Given the description of an element on the screen output the (x, y) to click on. 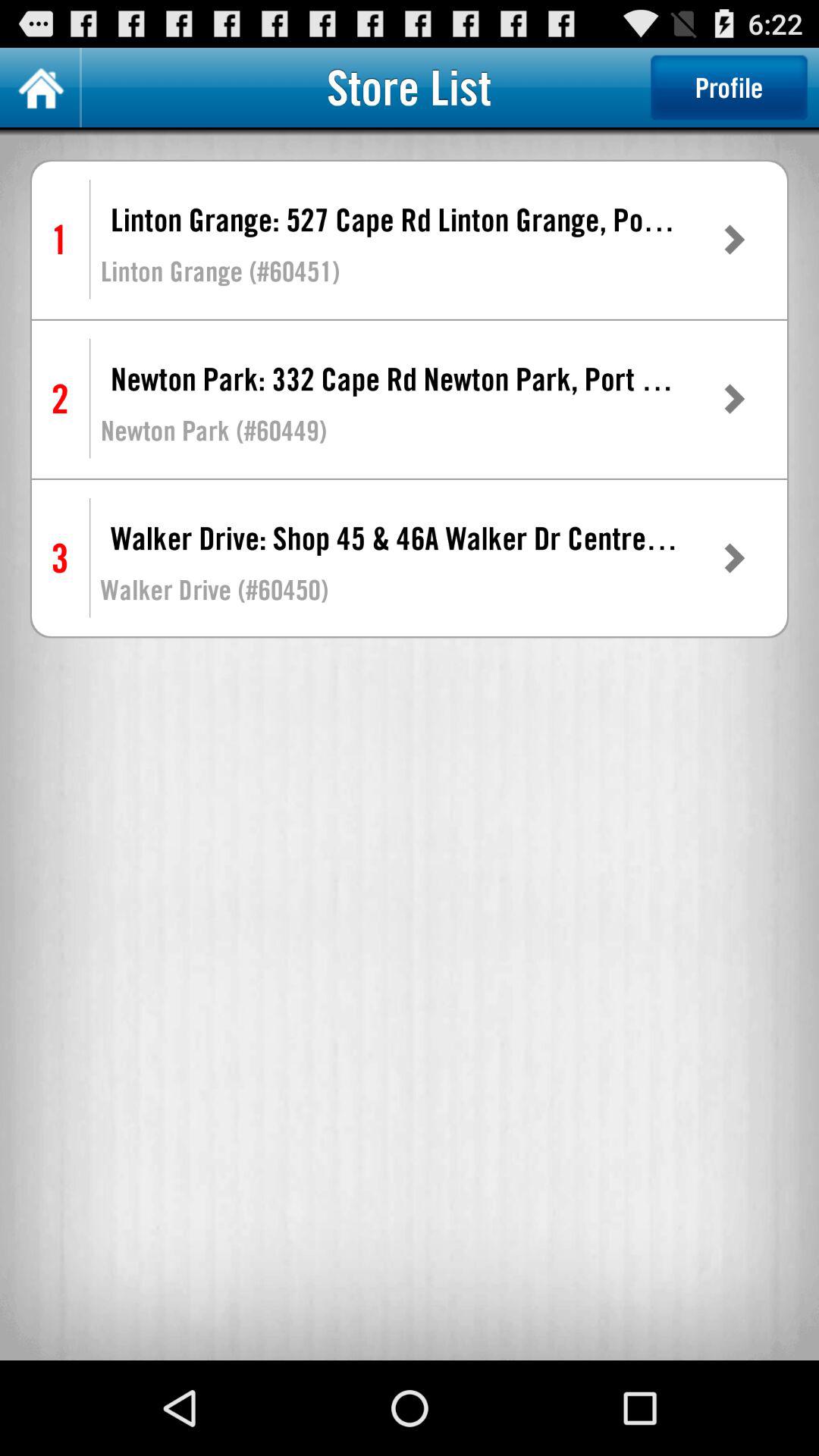
select the icon to the right of linton grange 527 icon (733, 239)
